Given the description of an element on the screen output the (x, y) to click on. 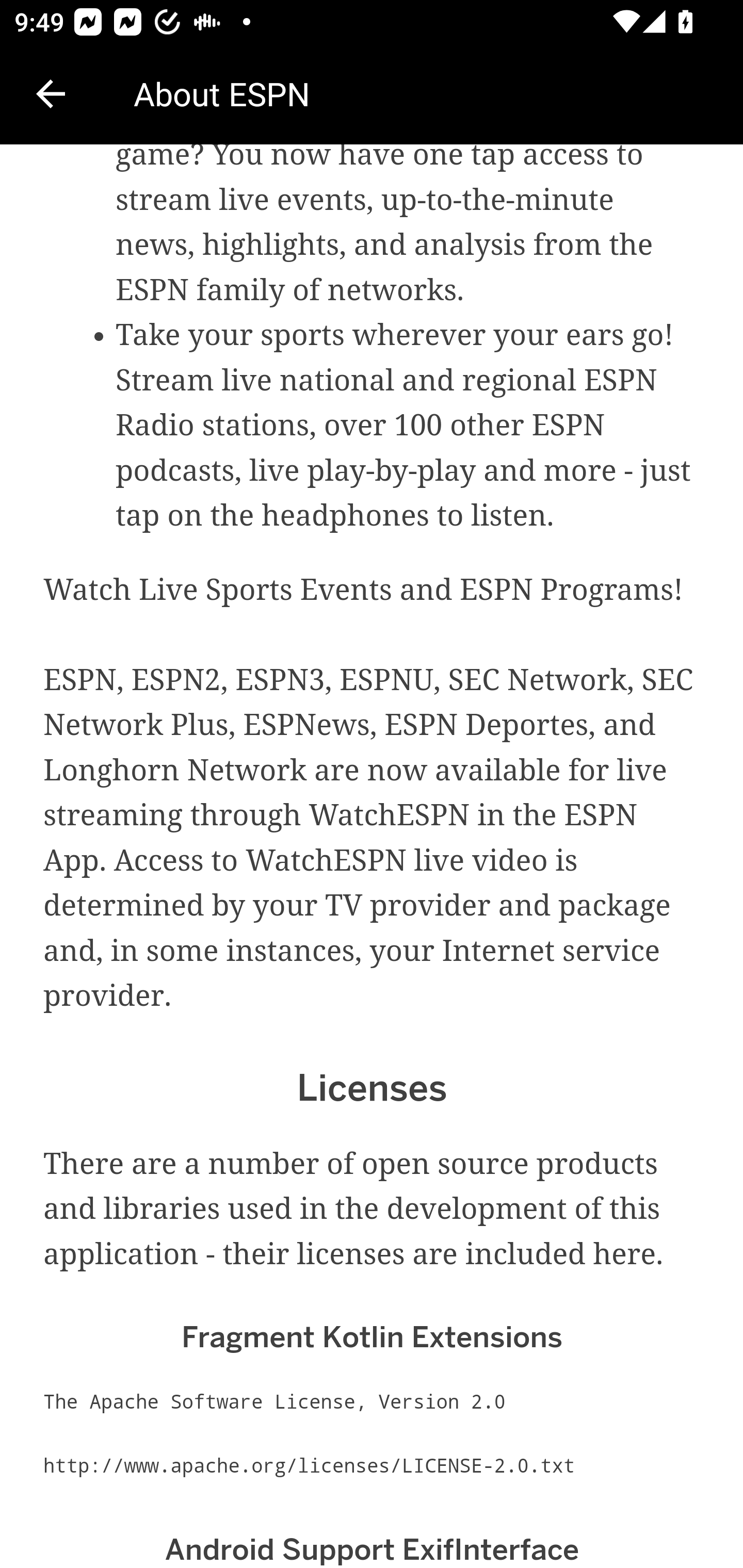
Navigate up (50, 93)
